Given the description of an element on the screen output the (x, y) to click on. 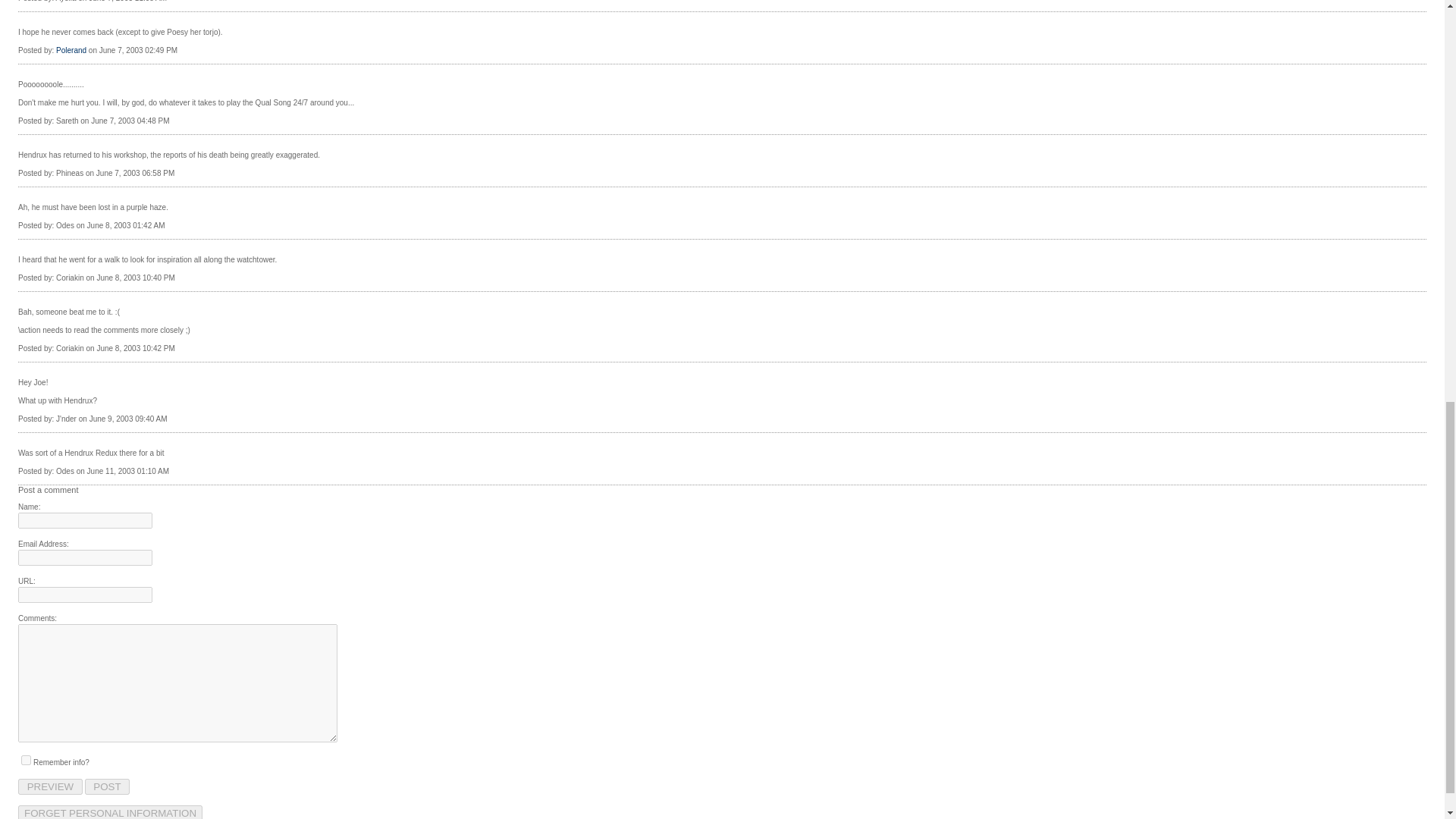
Polerand (70, 49)
on (25, 759)
FORGET PERSONAL INFORMATION (109, 812)
